Given the description of an element on the screen output the (x, y) to click on. 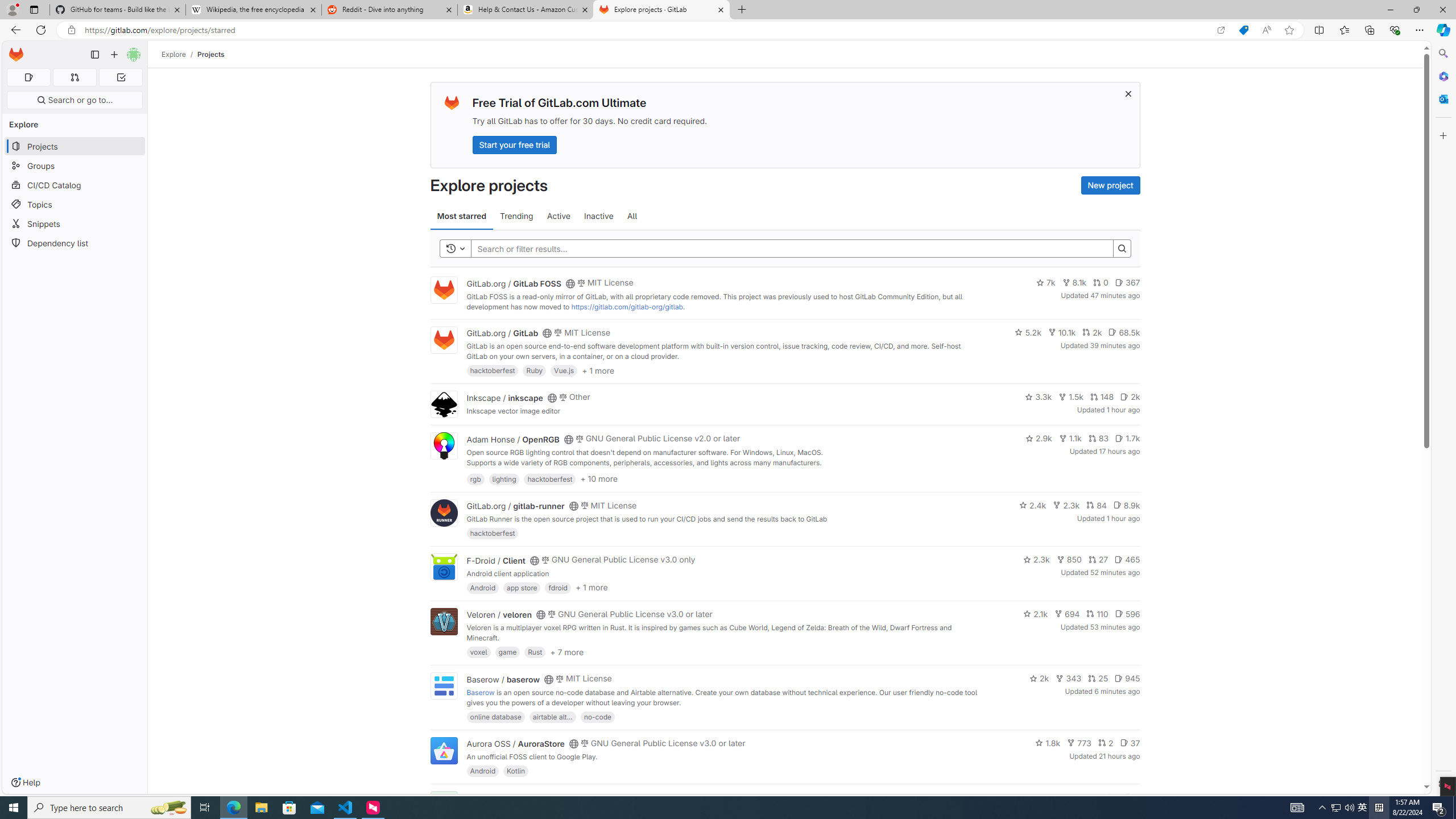
Class: s16 (568, 798)
app store (521, 587)
Projects (211, 53)
Dependency list (74, 242)
Kotlin (515, 770)
https://gitlab.com/gitlab-org/gitlab (626, 306)
110 (1097, 613)
148 (1101, 396)
Create new... (113, 54)
367 (1127, 282)
